Given the description of an element on the screen output the (x, y) to click on. 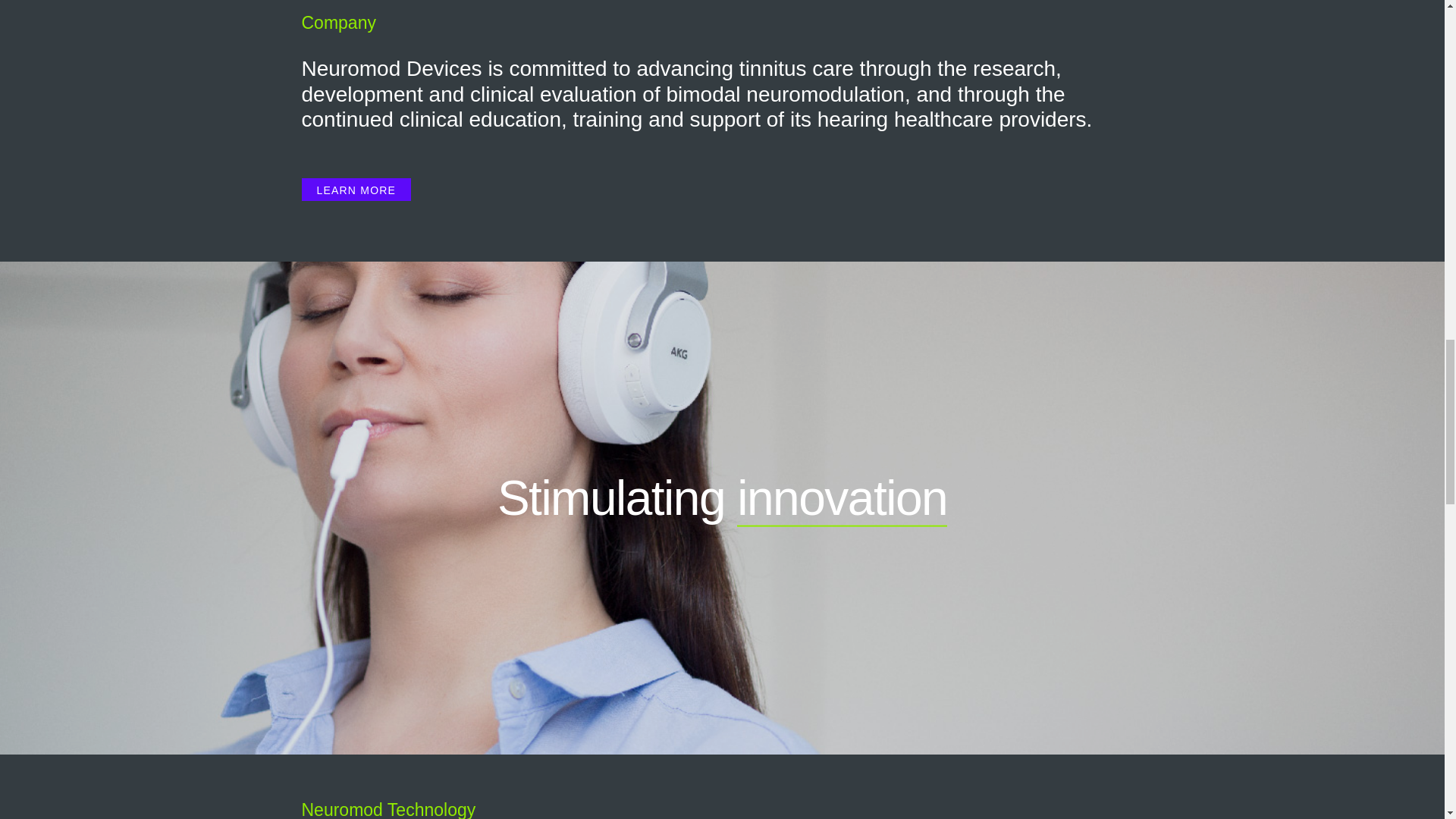
LEARN MORE (356, 189)
